Given the description of an element on the screen output the (x, y) to click on. 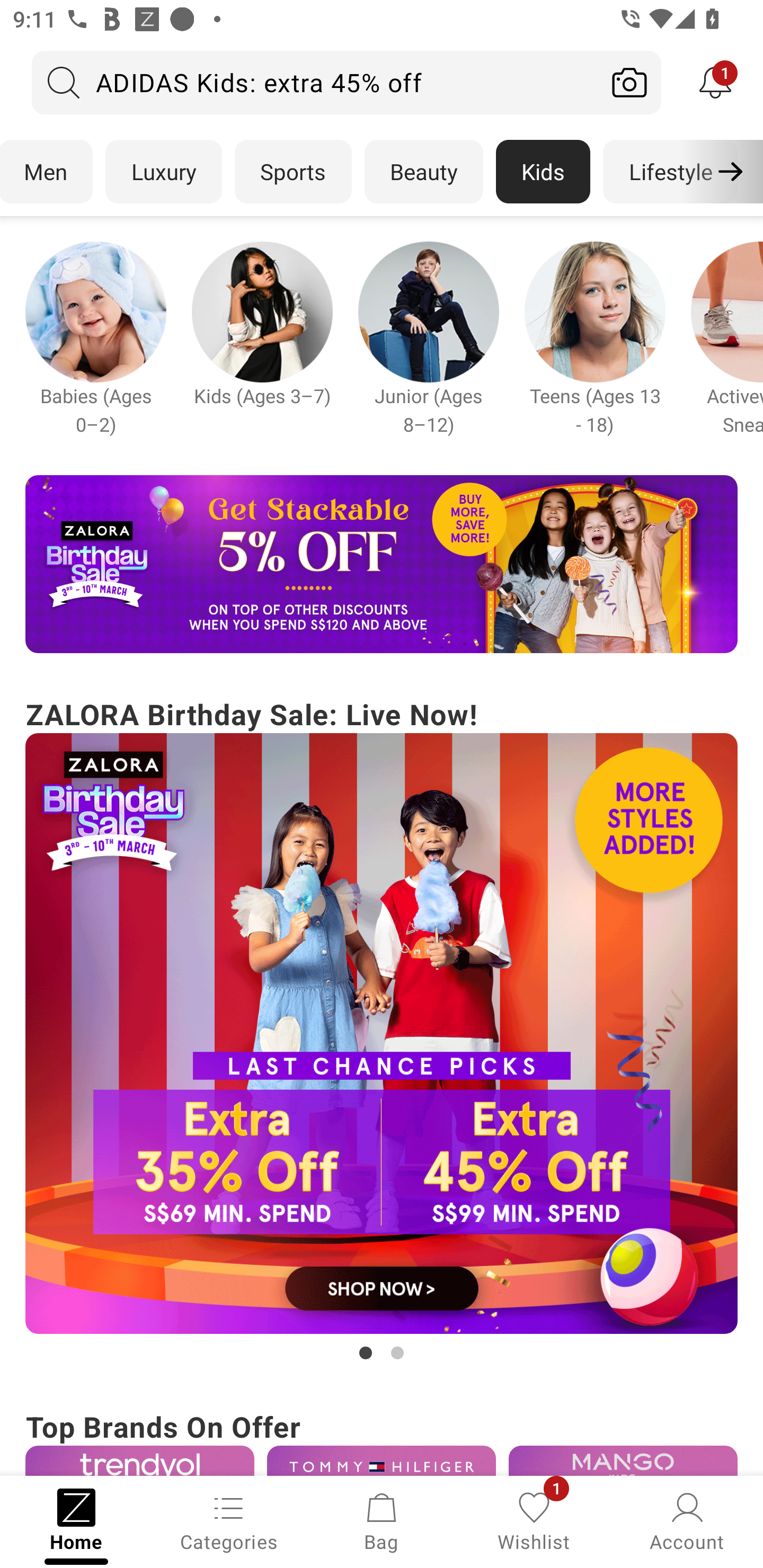
ADIDAS Kids: extra 45% off (314, 82)
Men (46, 171)
Luxury (163, 171)
Sports (293, 171)
Beauty (423, 171)
Kids (542, 171)
Lifestyle (669, 171)
Campaign banner (95, 311)
Campaign banner (261, 311)
Campaign banner (428, 311)
Campaign banner (594, 311)
Campaign banner (381, 564)
ZALORA Birthday Sale: Live Now! Campaign banner (381, 1028)
Campaign banner (381, 1033)
Campaign banner (139, 1460)
Campaign banner (381, 1460)
Campaign banner (622, 1460)
Categories (228, 1519)
Bag (381, 1519)
Wishlist, 1 new notification Wishlist (533, 1519)
Account (686, 1519)
